Given the description of an element on the screen output the (x, y) to click on. 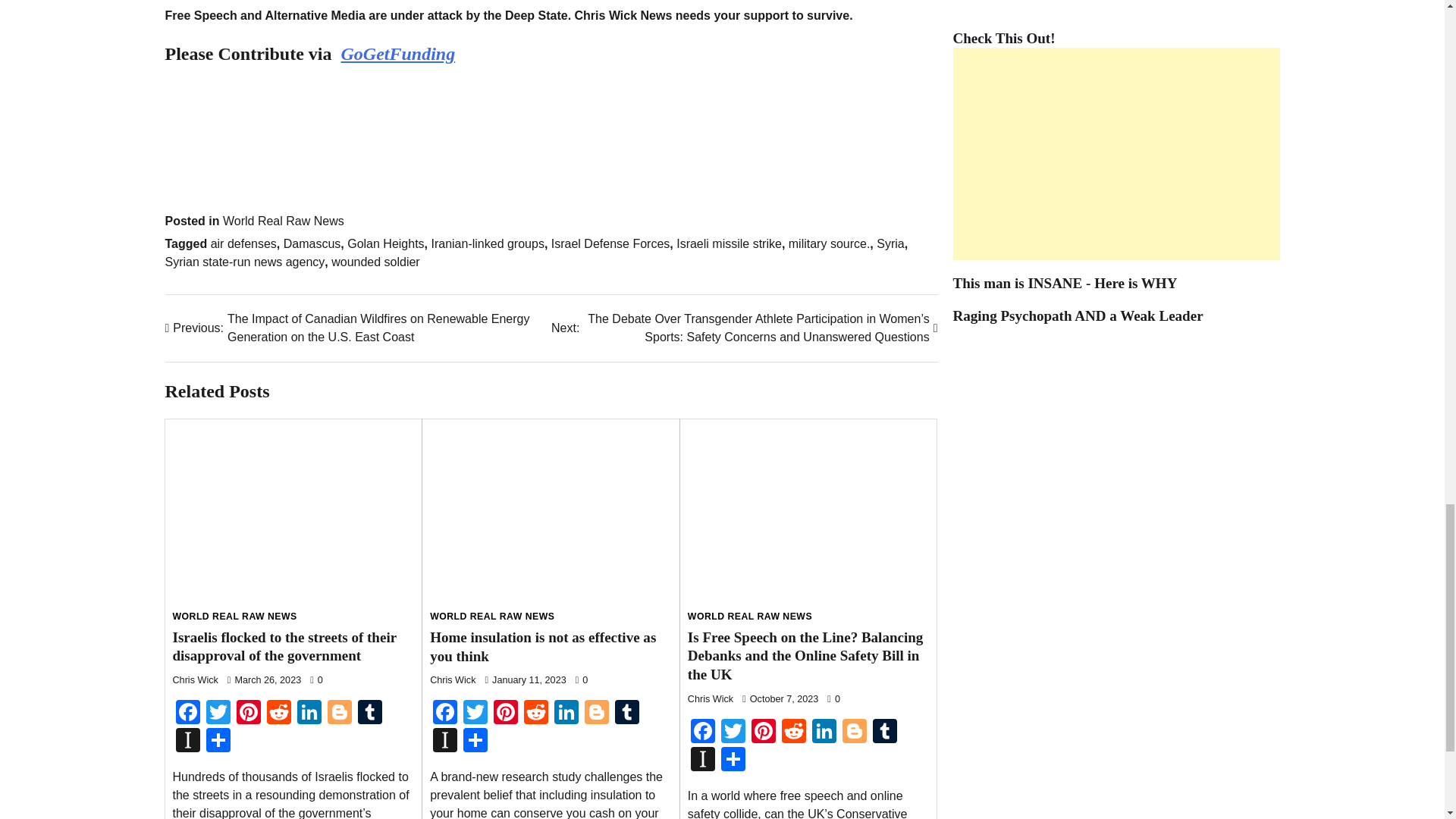
wounded soldier (375, 261)
Syrian state-run news agency (244, 261)
GoGetFunding (397, 53)
Pinterest (247, 714)
Facebook (188, 714)
Iranian-linked groups (486, 243)
Golan Heights (385, 243)
Damascus (311, 243)
air defenses (243, 243)
Twitter (217, 714)
military source. (829, 243)
Israel Defense Forces (610, 243)
Israeli missile strike (729, 243)
World Real Raw News (282, 220)
Syria (890, 243)
